Given the description of an element on the screen output the (x, y) to click on. 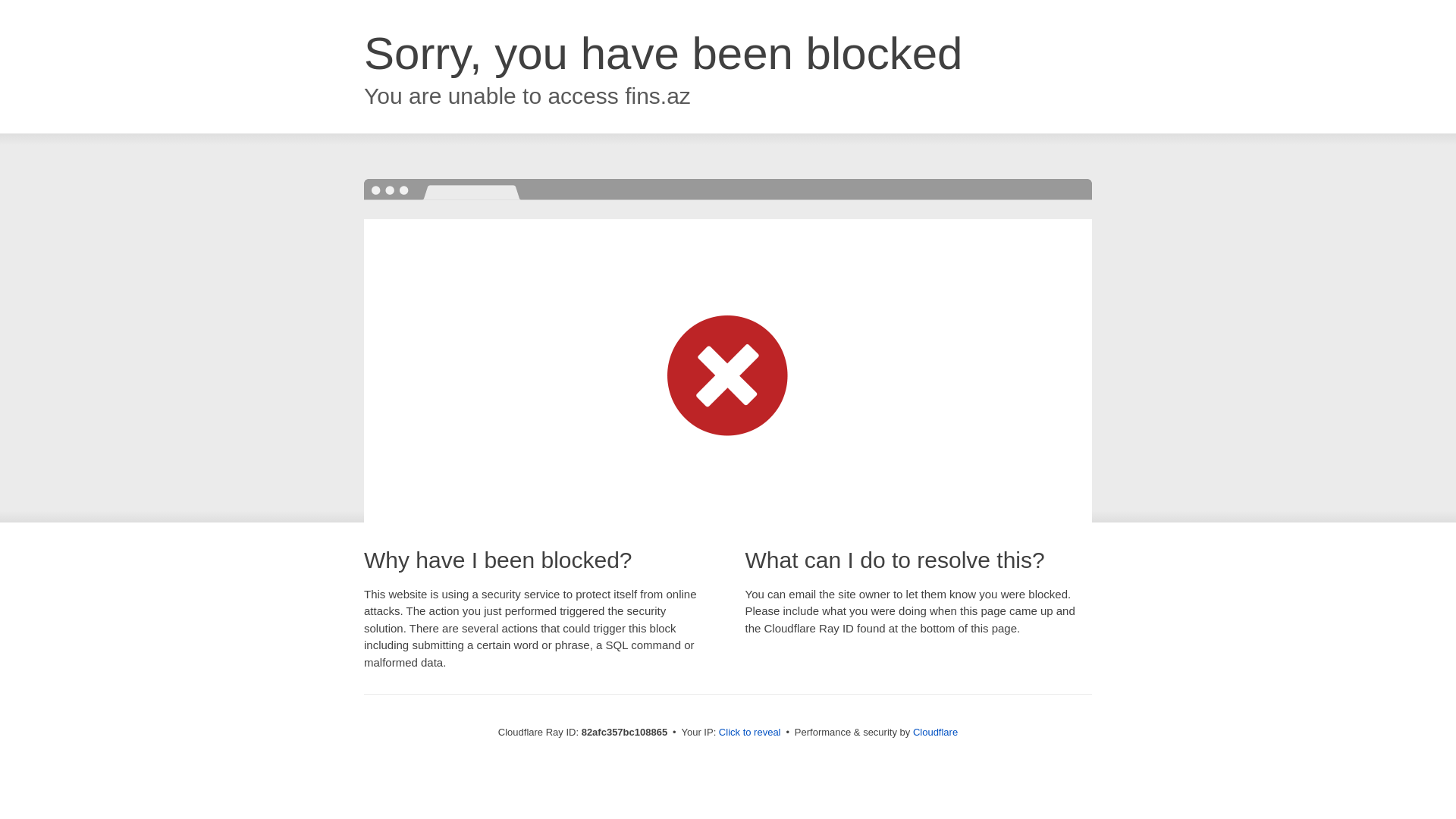
Cloudflare Element type: text (935, 731)
Click to reveal Element type: text (749, 732)
